Given the description of an element on the screen output the (x, y) to click on. 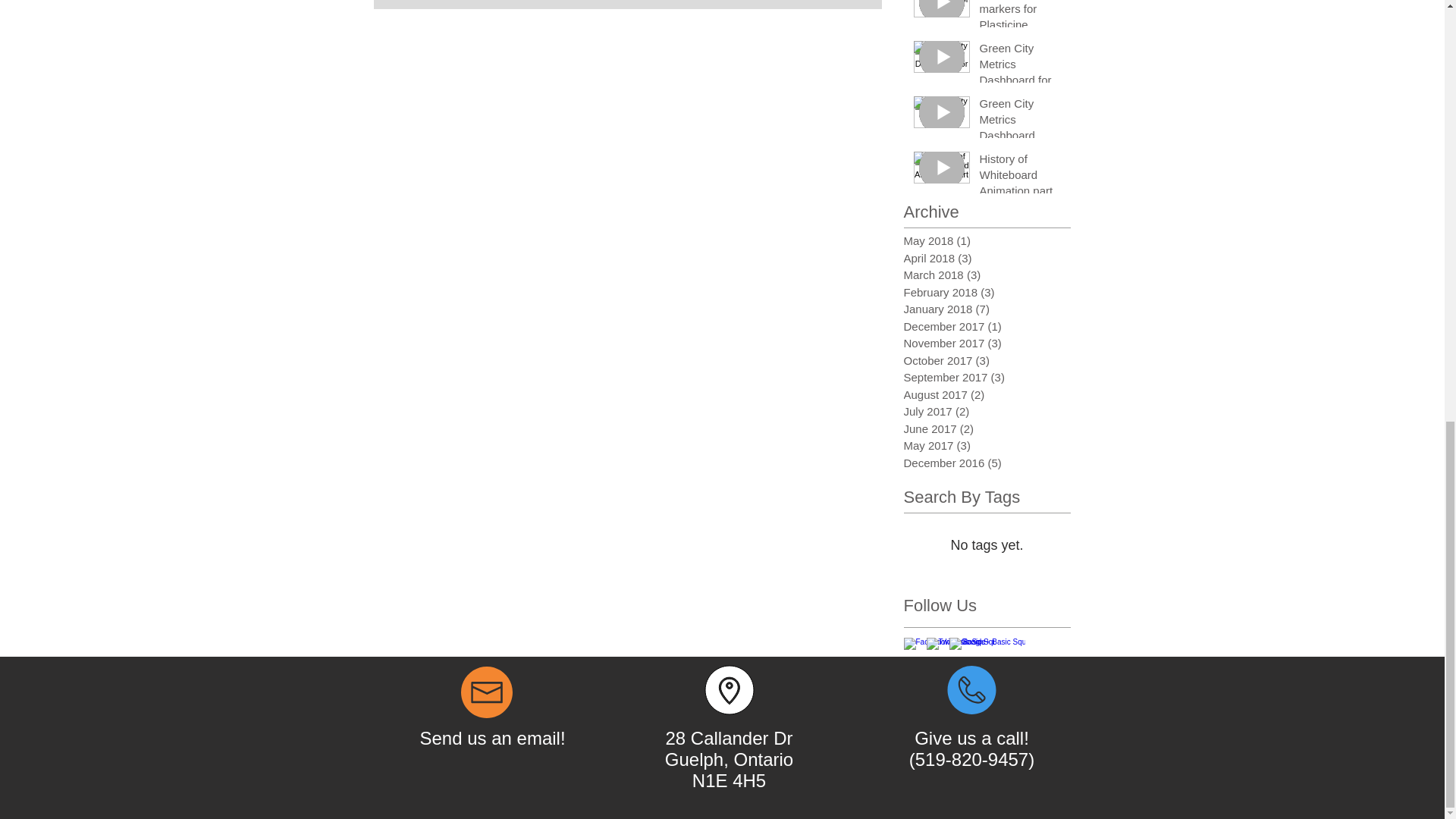
Switching markers for Plasticine (1020, 19)
Green City Metrics Dashboard for building owners (1020, 74)
Green City Metrics Dashboard (1020, 122)
History of Whiteboard Animation part 1 (1020, 185)
